Given the description of an element on the screen output the (x, y) to click on. 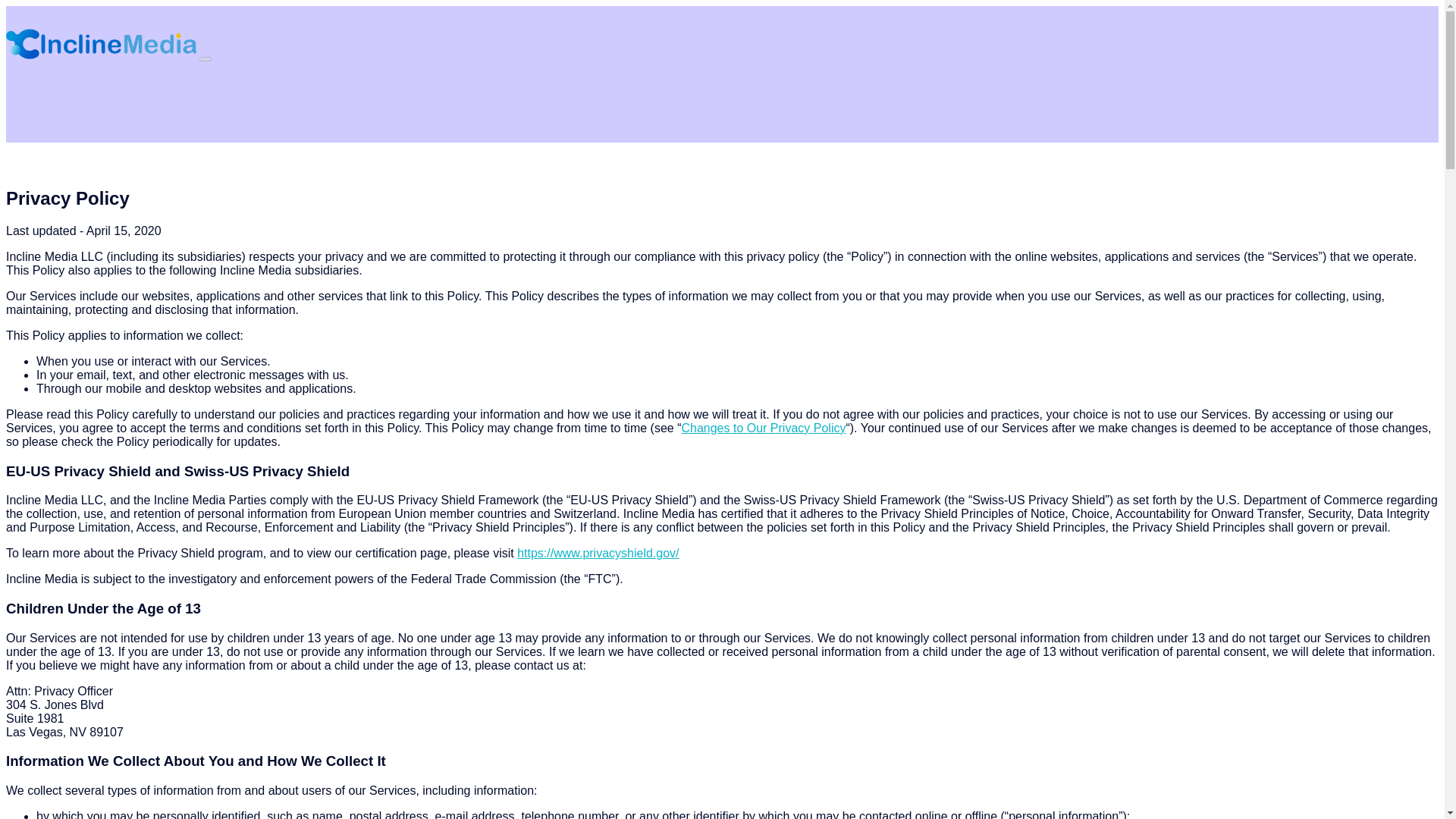
Changes to Our Privacy Policy (763, 427)
